Given the description of an element on the screen output the (x, y) to click on. 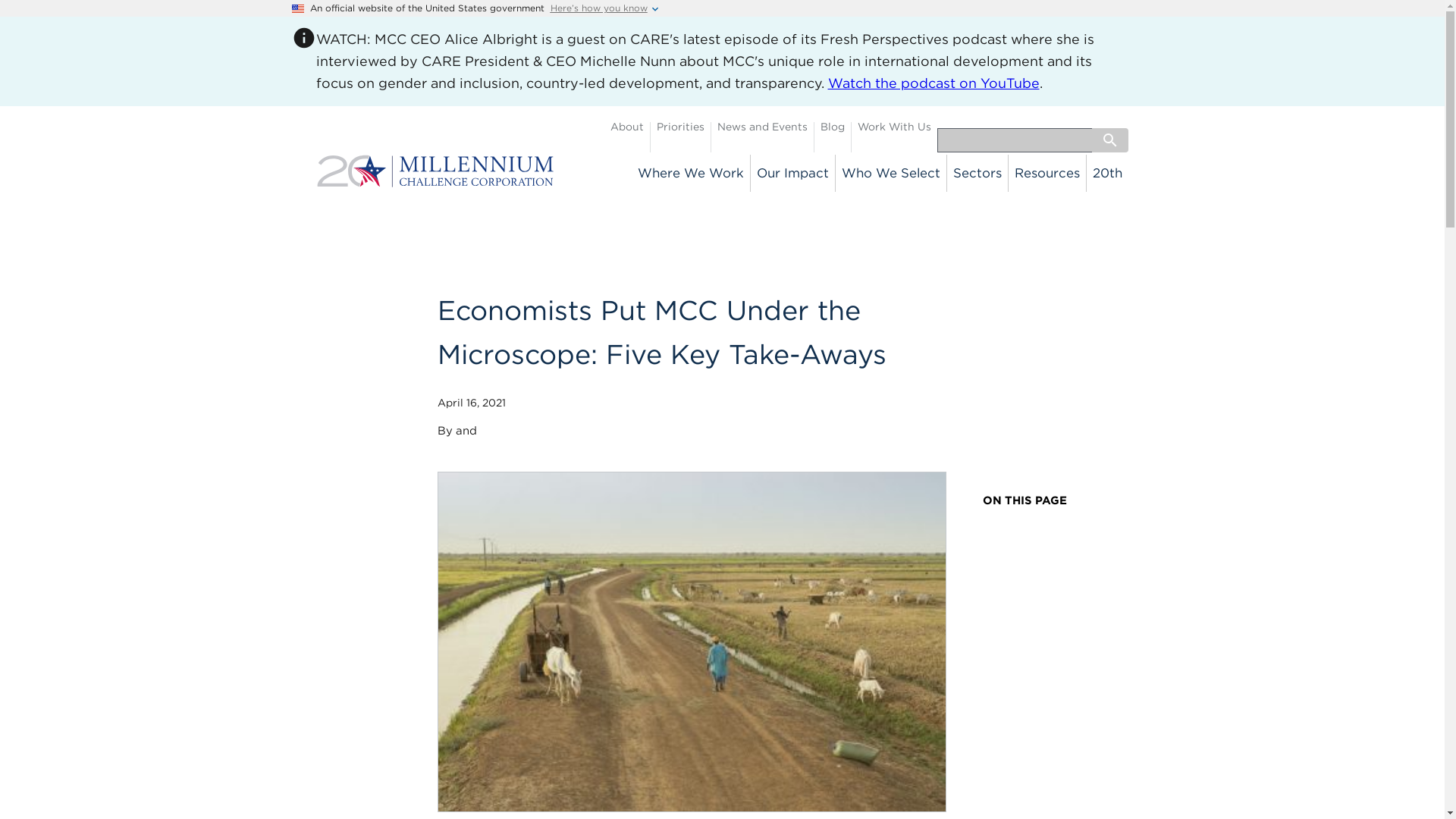
About (626, 127)
Watch the podcast on YouTube (933, 82)
Resources (1047, 172)
Work With Us (894, 127)
News and Events (762, 127)
Millennium Challenge Corporation (434, 179)
Blog (832, 127)
Where We Work (691, 172)
Our Impact (793, 172)
20th (1107, 172)
Sectors (978, 172)
Who We Select (891, 172)
Priorities (680, 127)
